Given the description of an element on the screen output the (x, y) to click on. 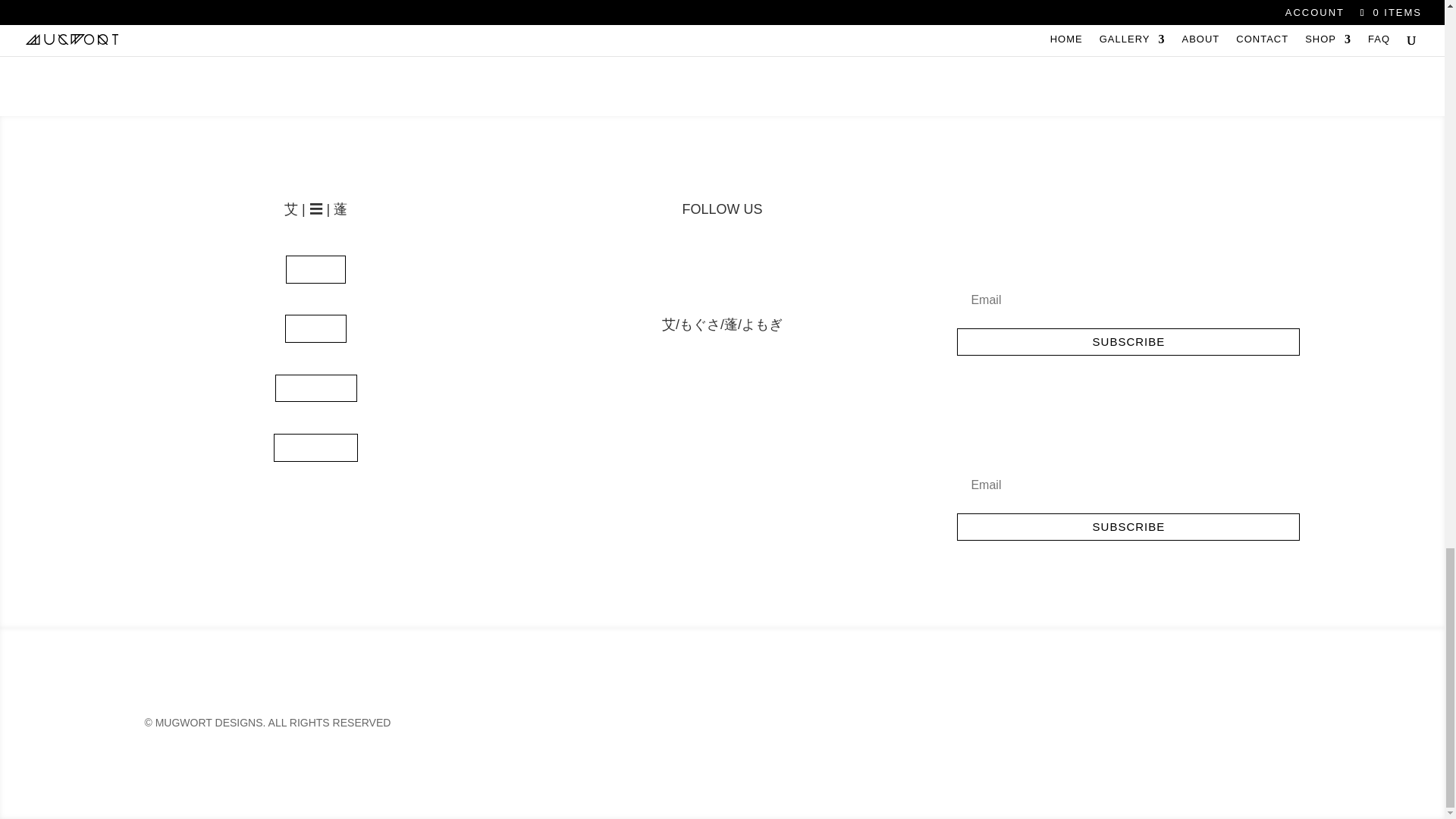
Follow on Instagram (675, 267)
Follow on X (737, 267)
Follow on Pinterest (766, 267)
Follow on Facebook (706, 267)
